Given the description of an element on the screen output the (x, y) to click on. 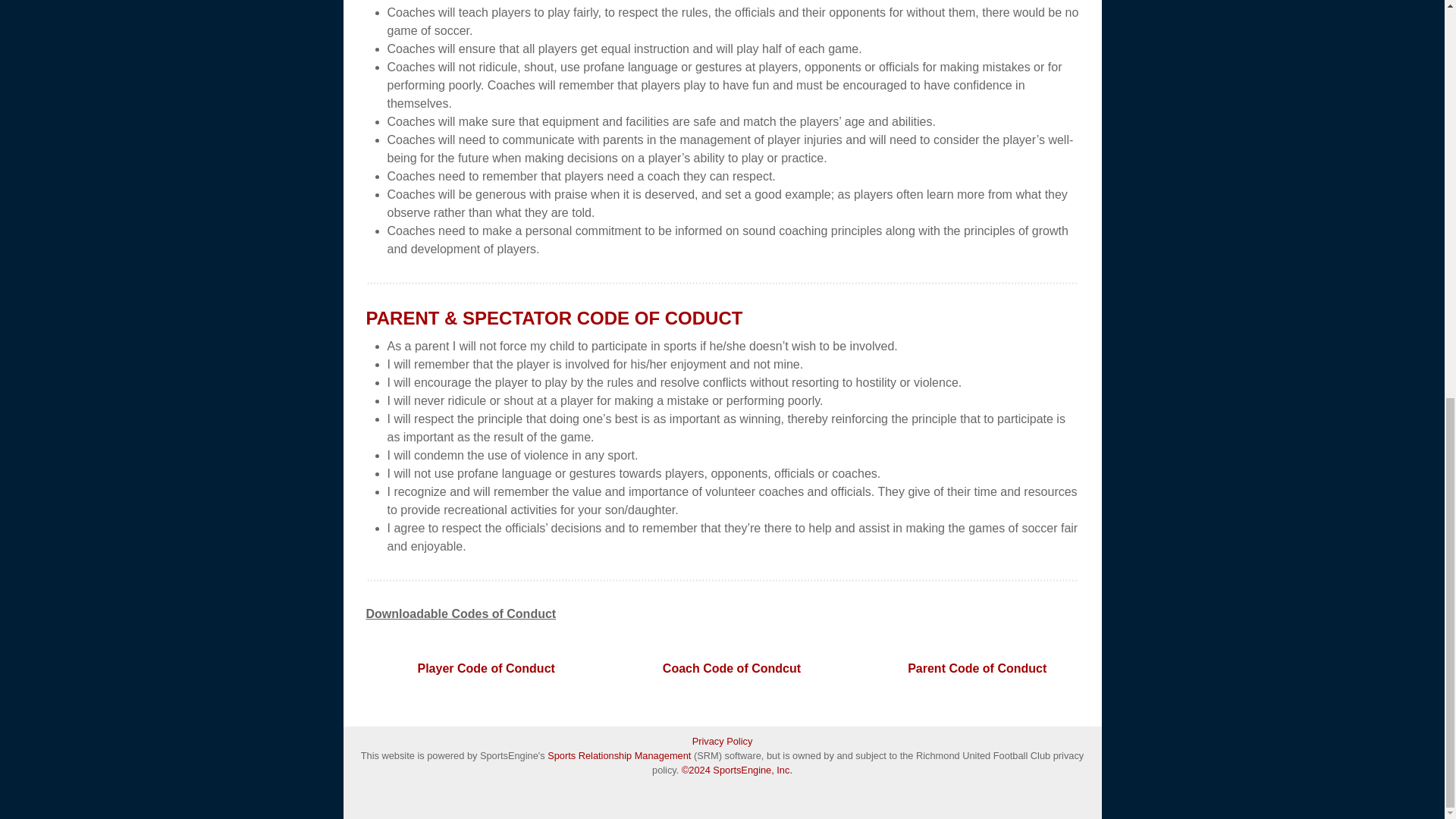
Sports Relationship Management (620, 755)
Parent Code of Conduct (976, 667)
Privacy Policy (722, 740)
Player Code of Conduct (485, 667)
Coach Code of Condcut (731, 667)
